Given the description of an element on the screen output the (x, y) to click on. 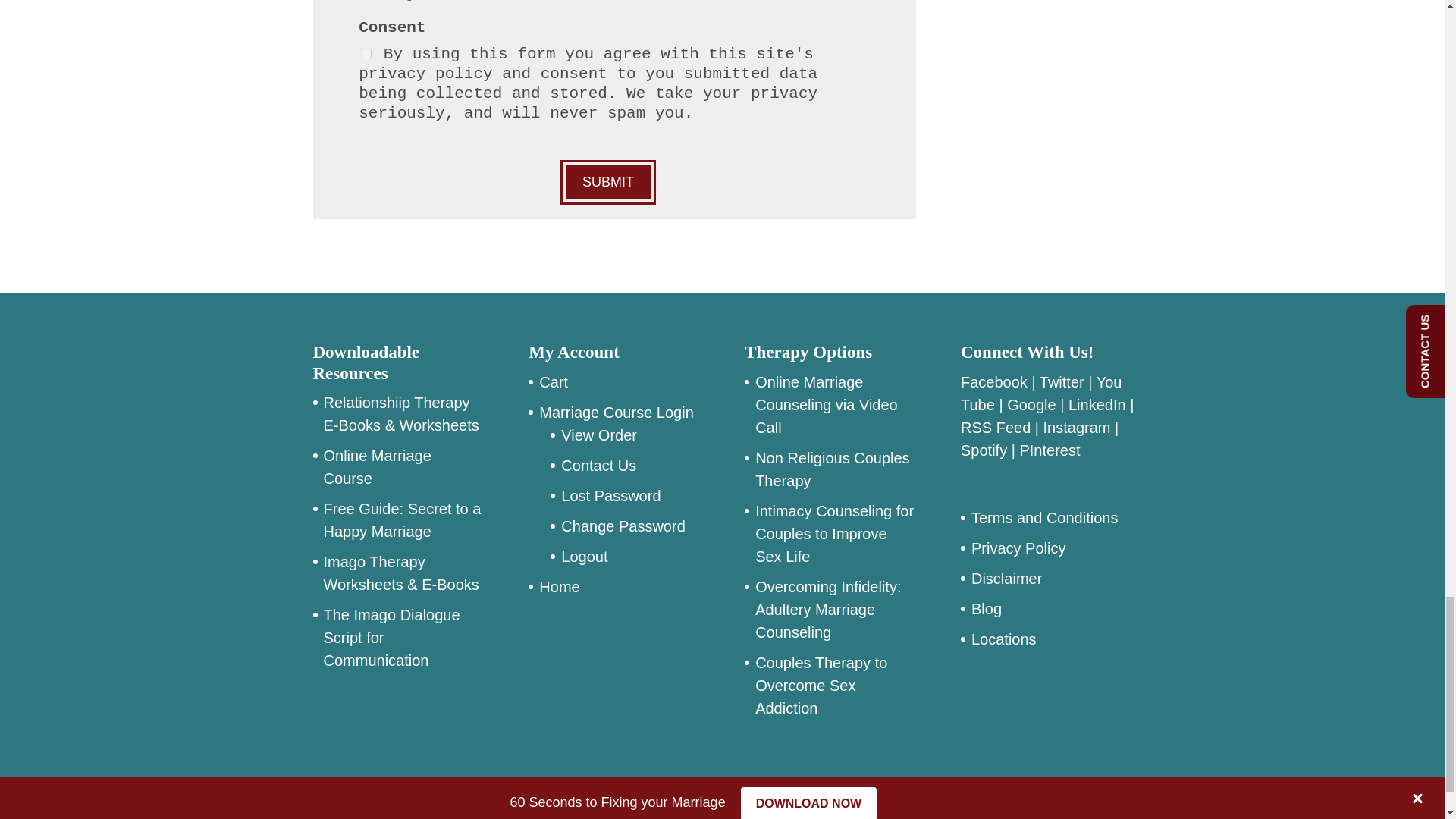
1 (366, 53)
SUBMIT (608, 182)
